Given the description of an element on the screen output the (x, y) to click on. 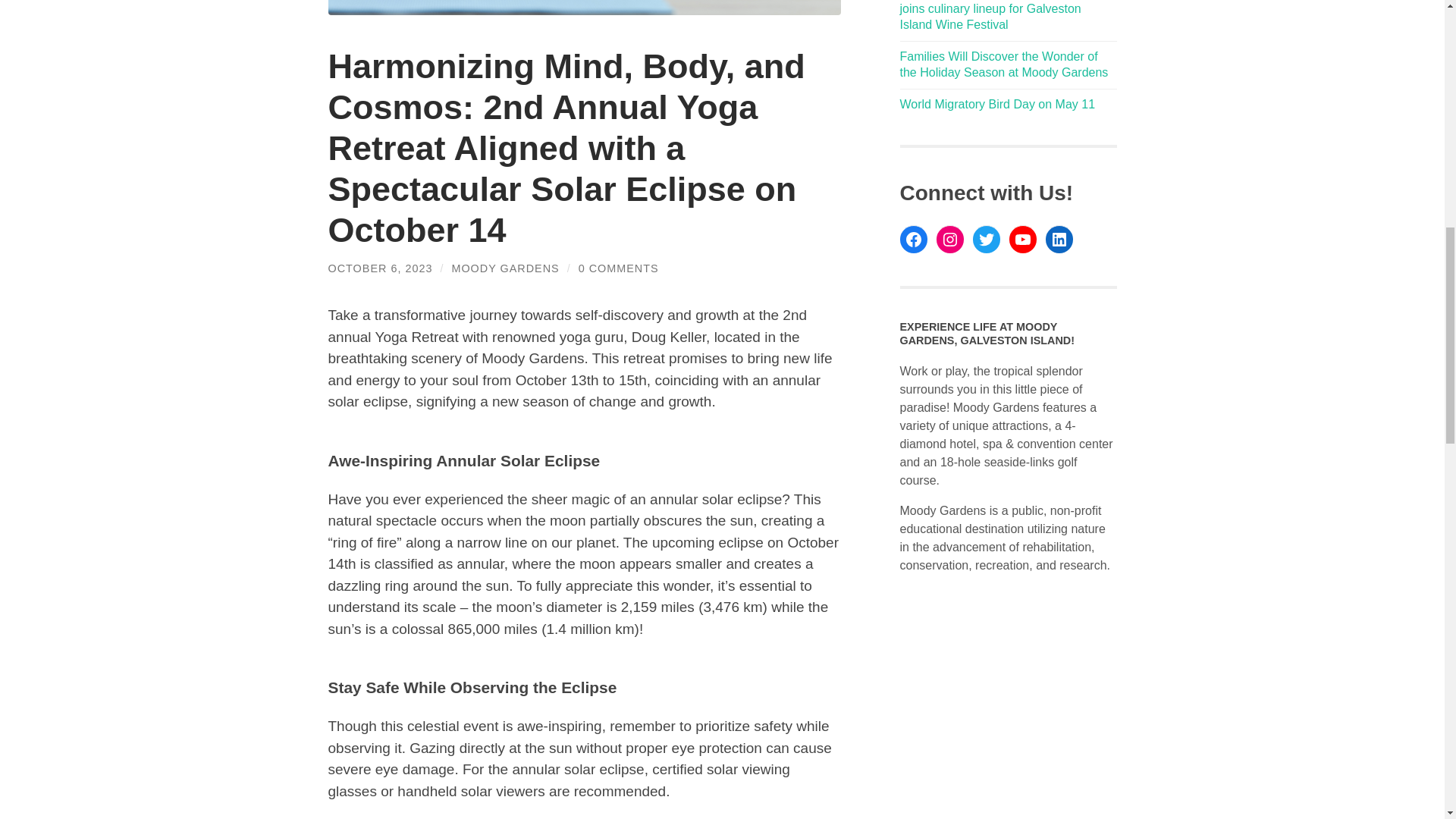
World Migratory Bird Day on May 11 (996, 103)
MOODY GARDENS (505, 268)
YouTube (1022, 239)
Instagram (949, 239)
LinkedIn (1058, 239)
Twitter (985, 239)
0 COMMENTS (618, 268)
Facebook (912, 239)
Posts by Moody Gardens (505, 268)
OCTOBER 6, 2023 (379, 268)
